Given the description of an element on the screen output the (x, y) to click on. 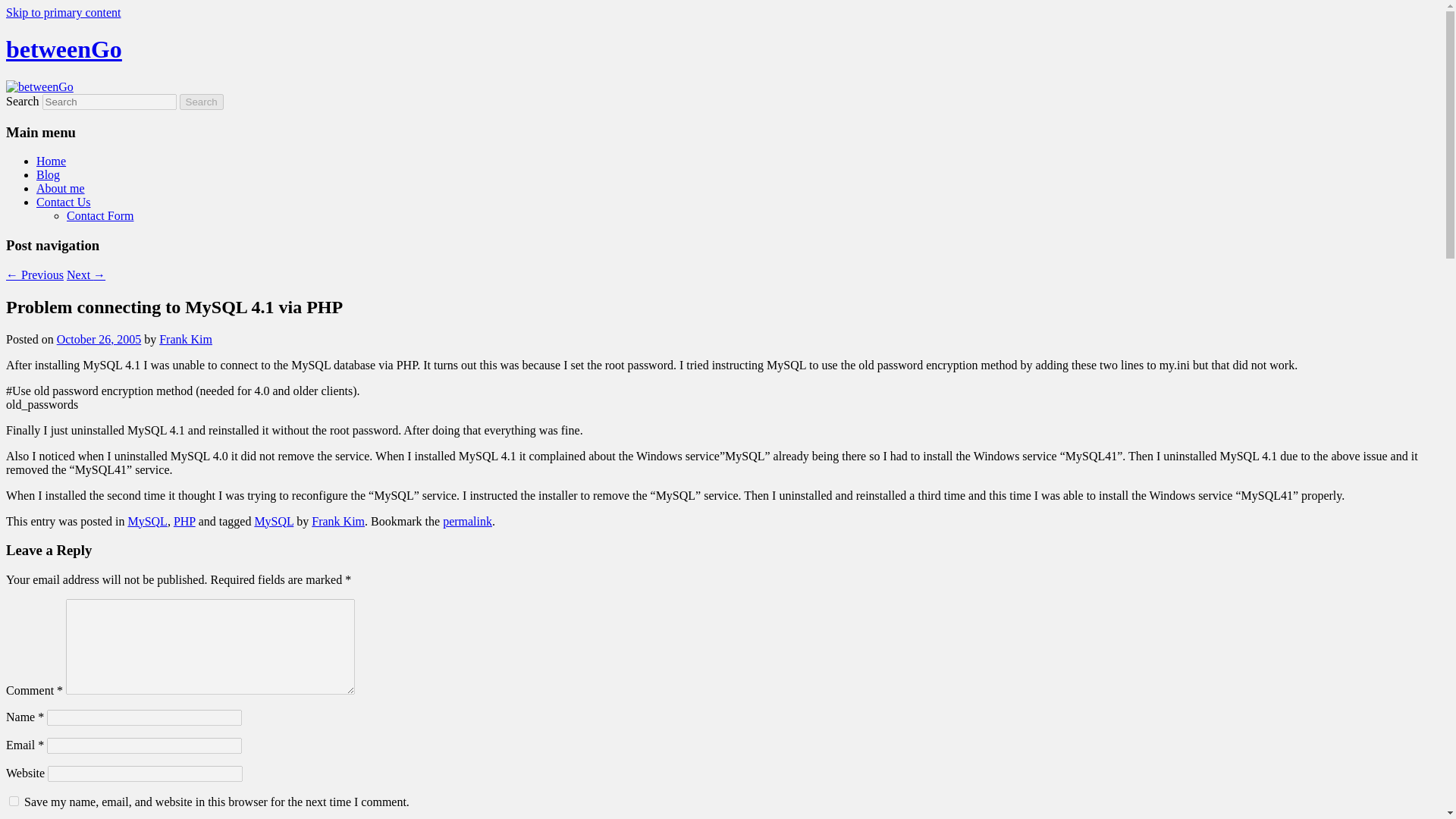
Home (50, 160)
MySQL (147, 521)
Permalink to Problem connecting to MySQL 4.1 via PHP (467, 521)
permalink (467, 521)
Blog (47, 174)
Skip to primary content (62, 11)
About me (60, 187)
Search (201, 101)
October 26, 2005 (98, 338)
11:00 PM (98, 338)
yes (13, 800)
PHP (184, 521)
Contact Form (99, 215)
View all posts by Frank Kim (185, 338)
Frank Kim (185, 338)
